Given the description of an element on the screen output the (x, y) to click on. 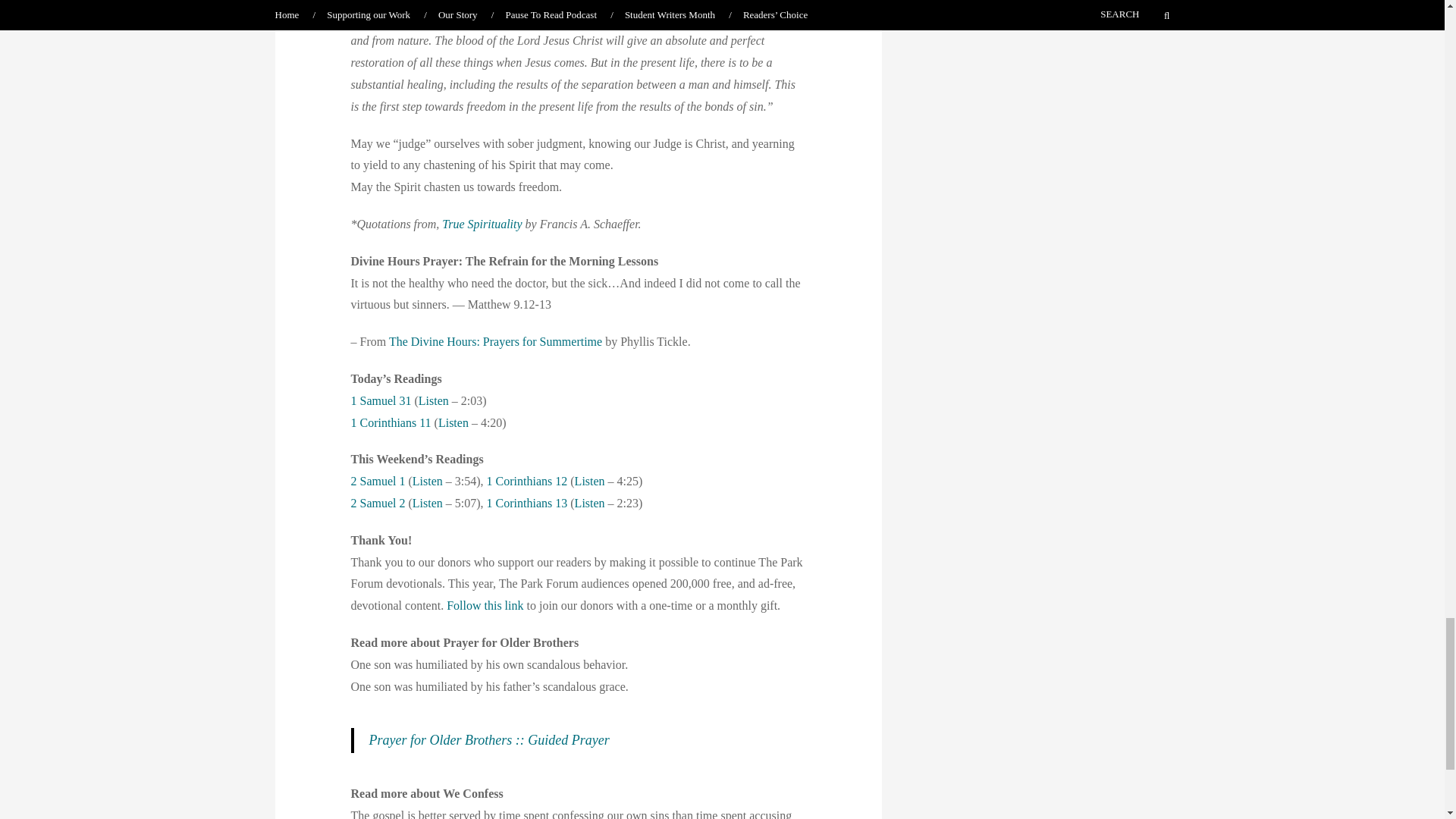
The Divine Hours: Prayers for Summertime (495, 341)
1 Samuel 31 (380, 400)
True Spirituality (483, 223)
1 Corinthians 11 (390, 422)
2 Samuel 2 (377, 502)
Listen (427, 502)
Listen (590, 481)
Follow this link (484, 604)
2 Samuel 1 (377, 481)
Listen (427, 481)
